Given the description of an element on the screen output the (x, y) to click on. 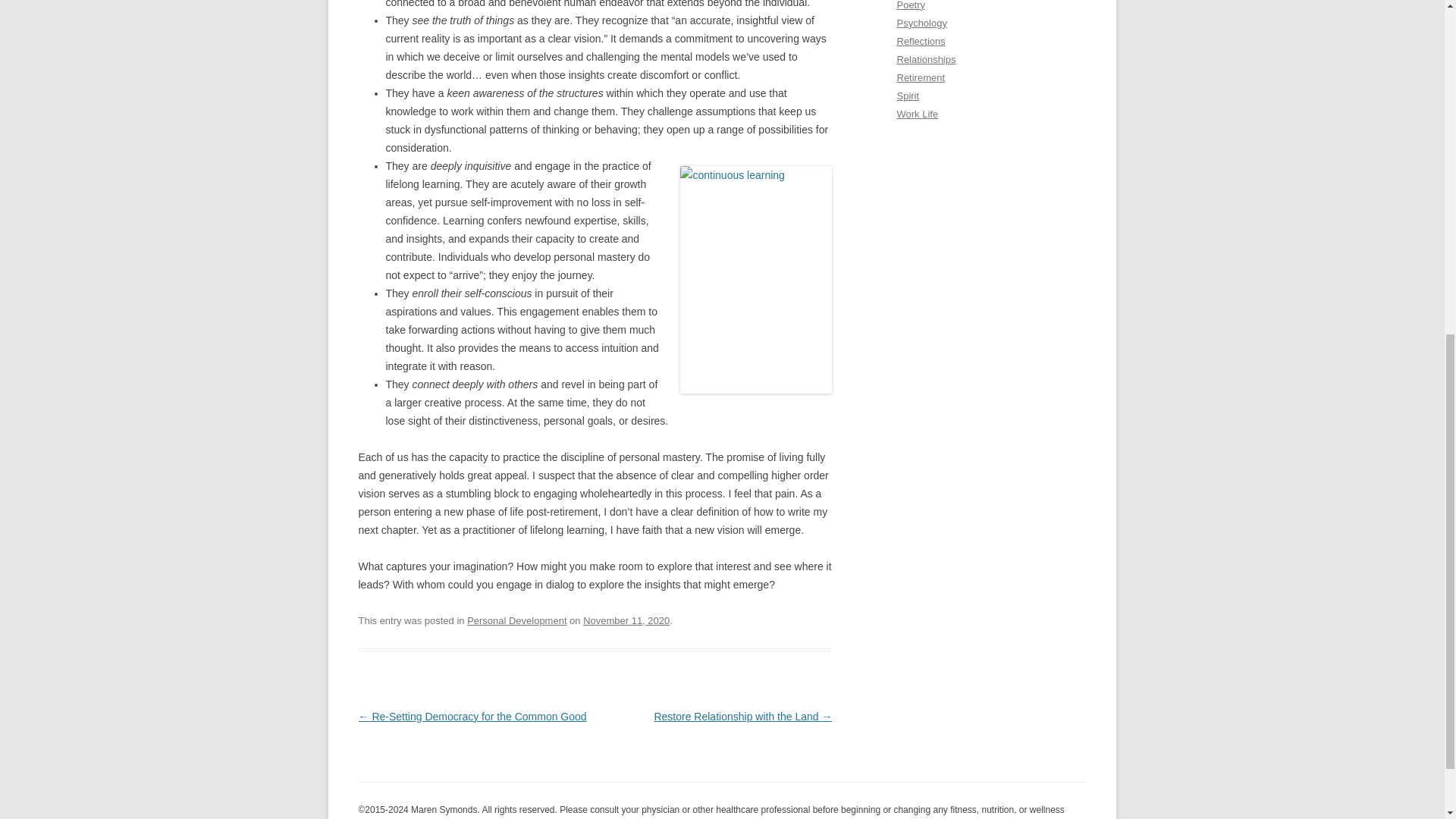
Psychology (921, 22)
Spirit (907, 95)
6:00 am (626, 620)
Retirement (920, 77)
November 11, 2020 (626, 620)
Personal Development (516, 620)
Work Life (916, 113)
Poetry (910, 5)
Relationships (925, 59)
Reflections (920, 41)
